Given the description of an element on the screen output the (x, y) to click on. 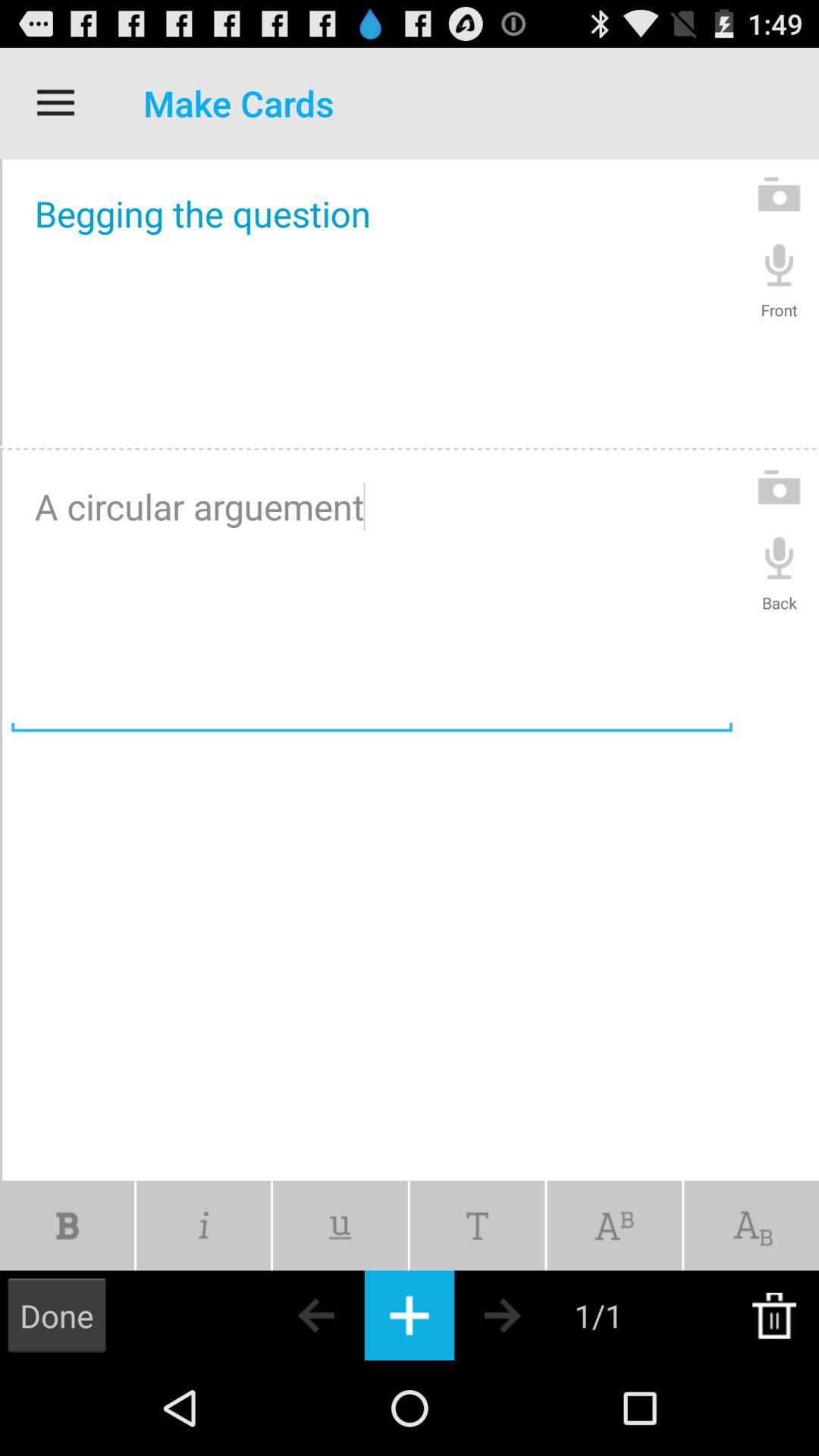
open icon below a circular arguement icon (614, 1225)
